Given the description of an element on the screen output the (x, y) to click on. 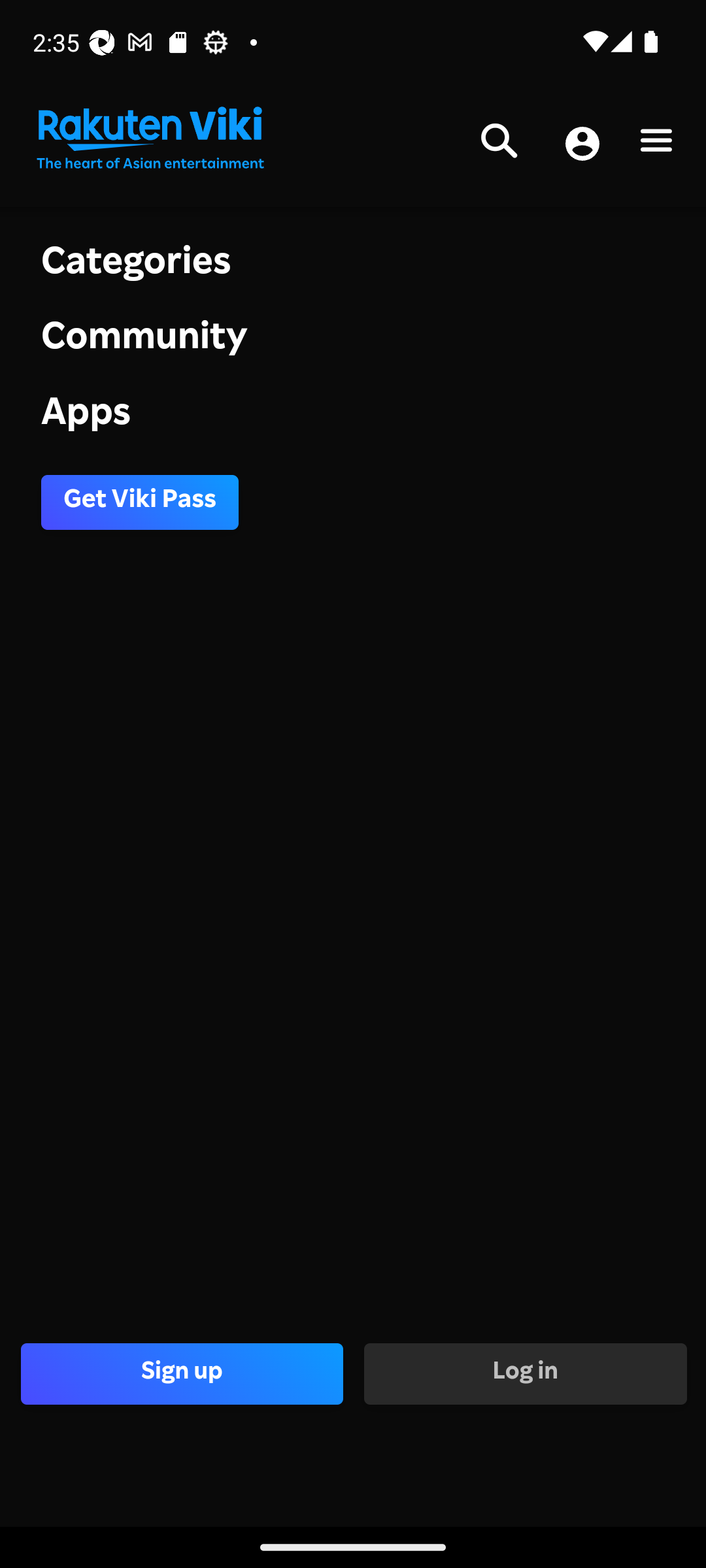
Go to homepage Rakuten Viki (149, 138)
nav.session.login (582, 144)
Settings menu (655, 143)
Categories (353, 263)
Community (353, 340)
Apps (353, 415)
Get Viki Pass (140, 501)
Sign up (181, 1373)
Log in (524, 1373)
